Given the description of an element on the screen output the (x, y) to click on. 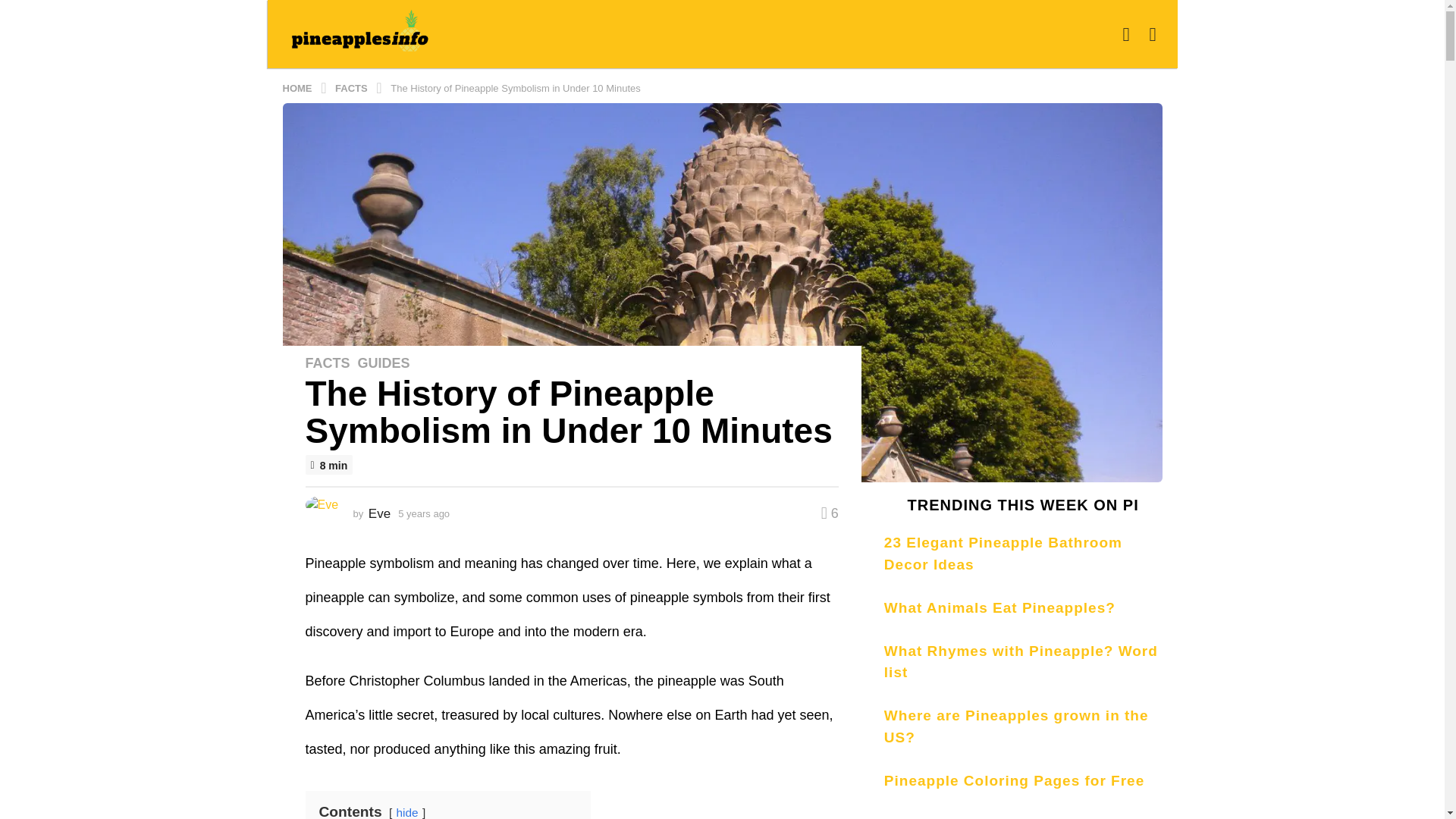
The History of Pineapple Symbolism in Under 10 Minutes (515, 87)
FACTS (326, 363)
HOME (298, 87)
GUIDES (384, 363)
FACTS (351, 87)
